Given the description of an element on the screen output the (x, y) to click on. 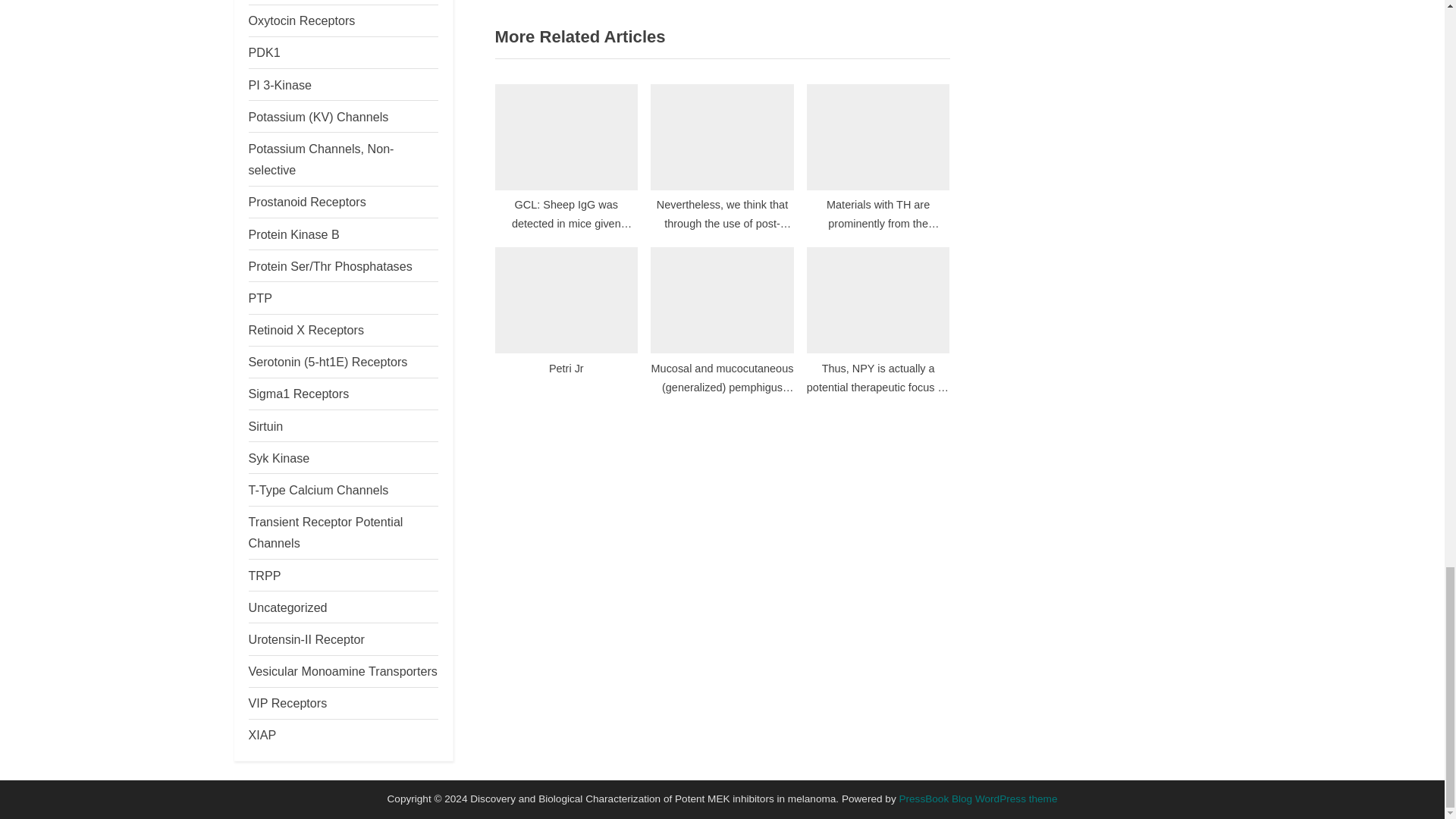
Petri Jr (566, 319)
